Given the description of an element on the screen output the (x, y) to click on. 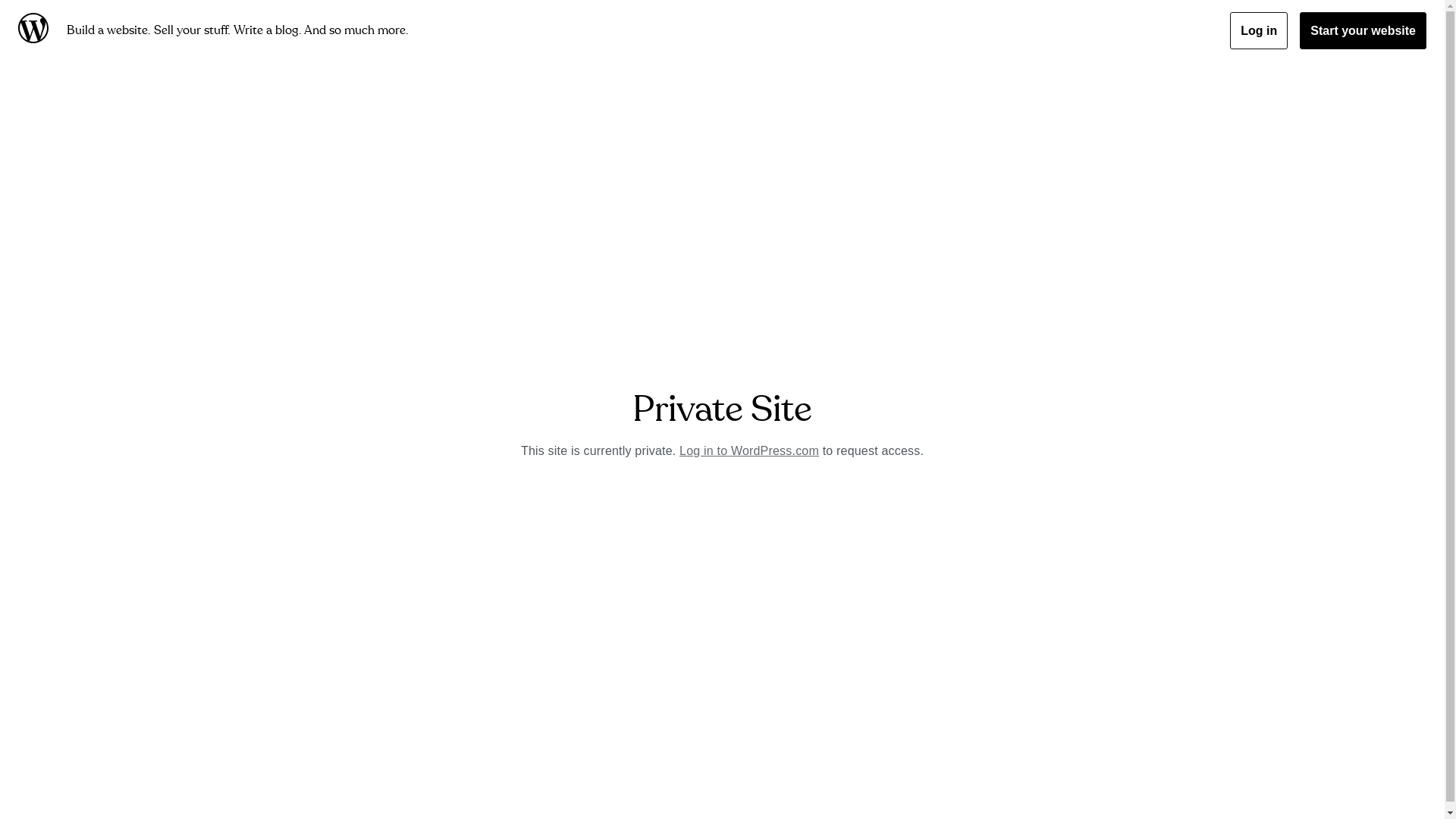
Start your website Element type: text (1362, 30)
Log in Element type: text (1258, 30)
Log in to WordPress.com Element type: text (749, 450)
WordPress.com Element type: text (36, 30)
